Given the description of an element on the screen output the (x, y) to click on. 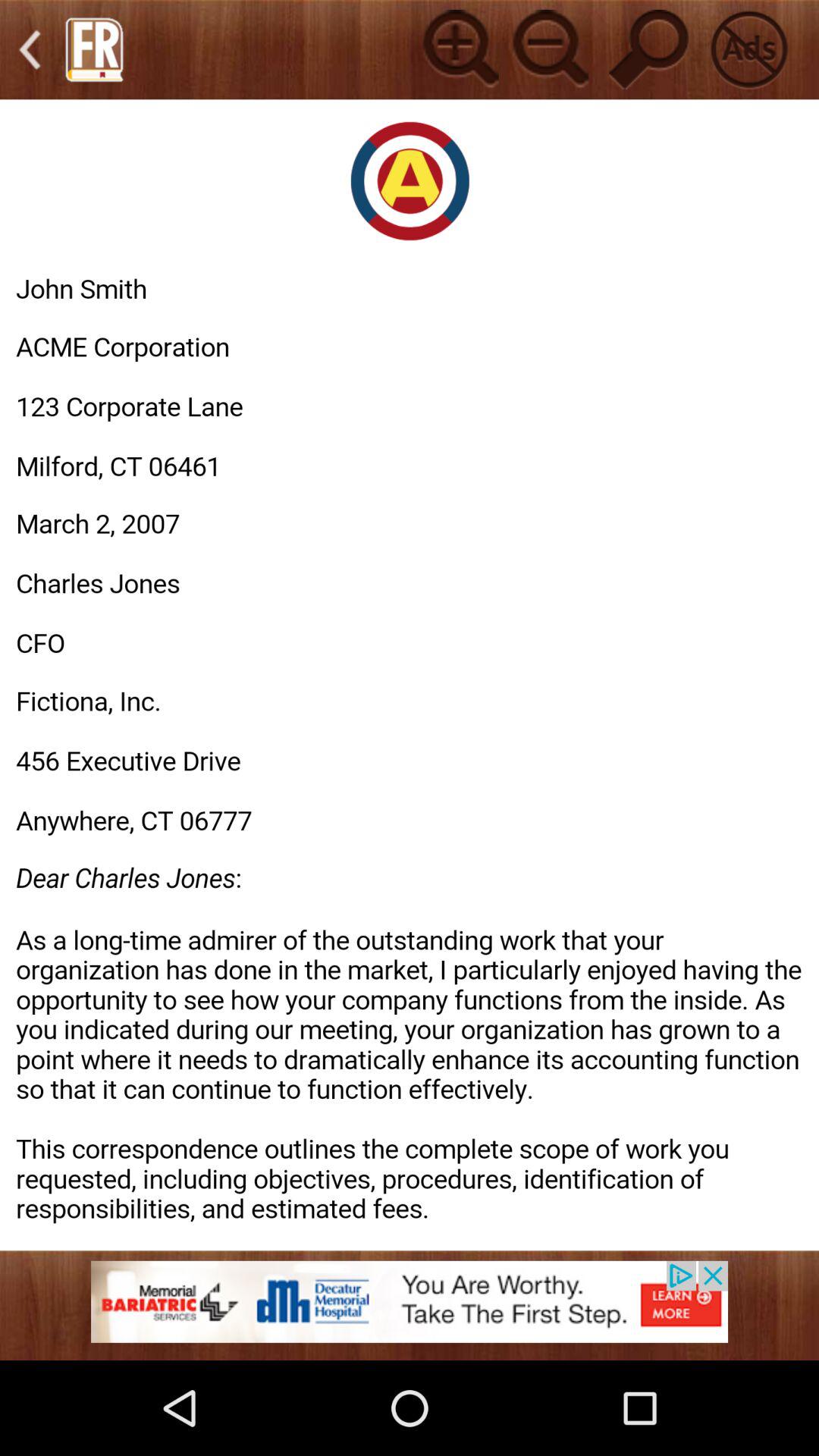
so the advertisement (409, 1310)
